Given the description of an element on the screen output the (x, y) to click on. 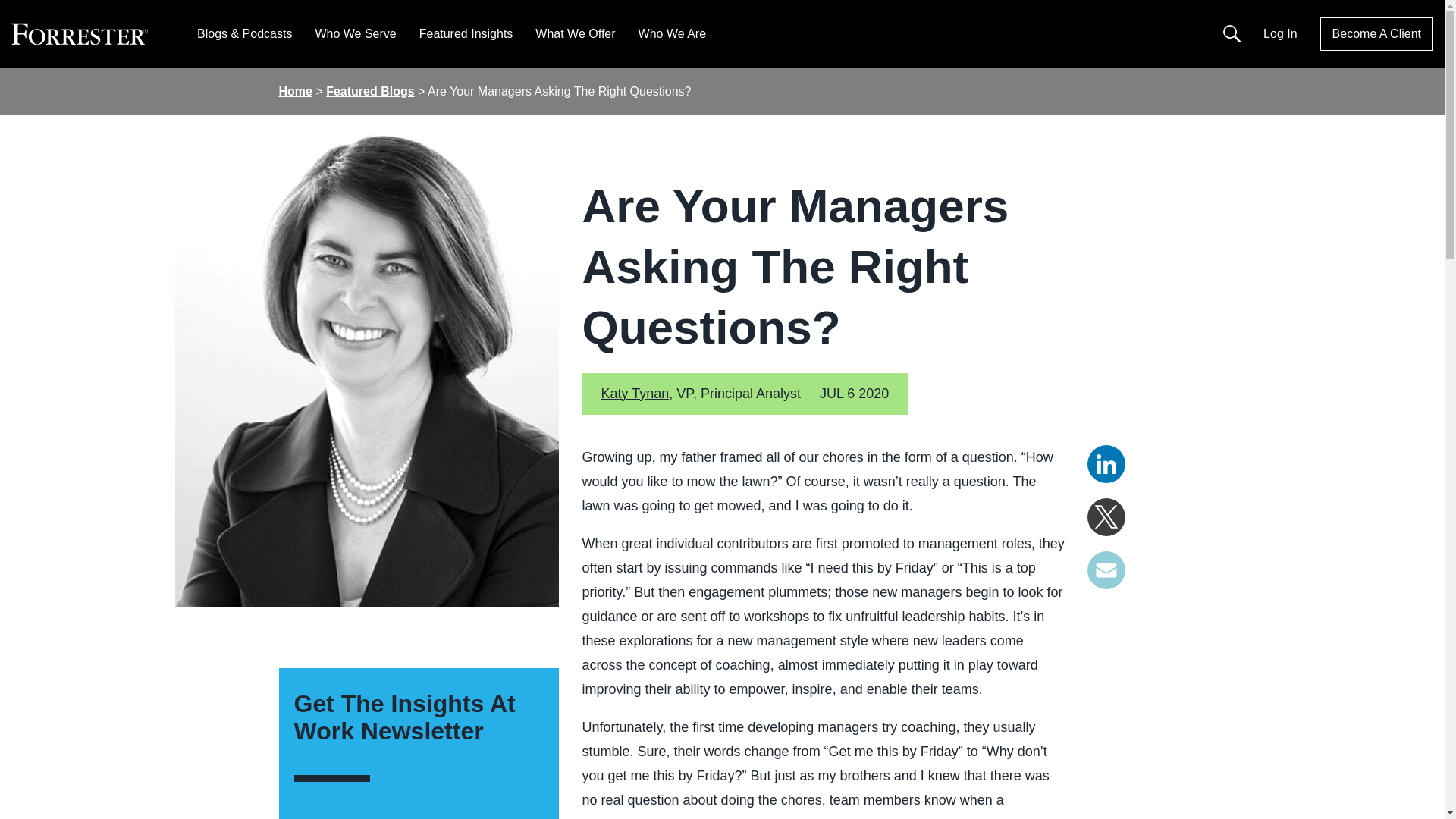
What We Offer (574, 33)
Featured Insights (466, 33)
Who We Serve (355, 33)
Posts by Katy Tynan (633, 392)
